Given the description of an element on the screen output the (x, y) to click on. 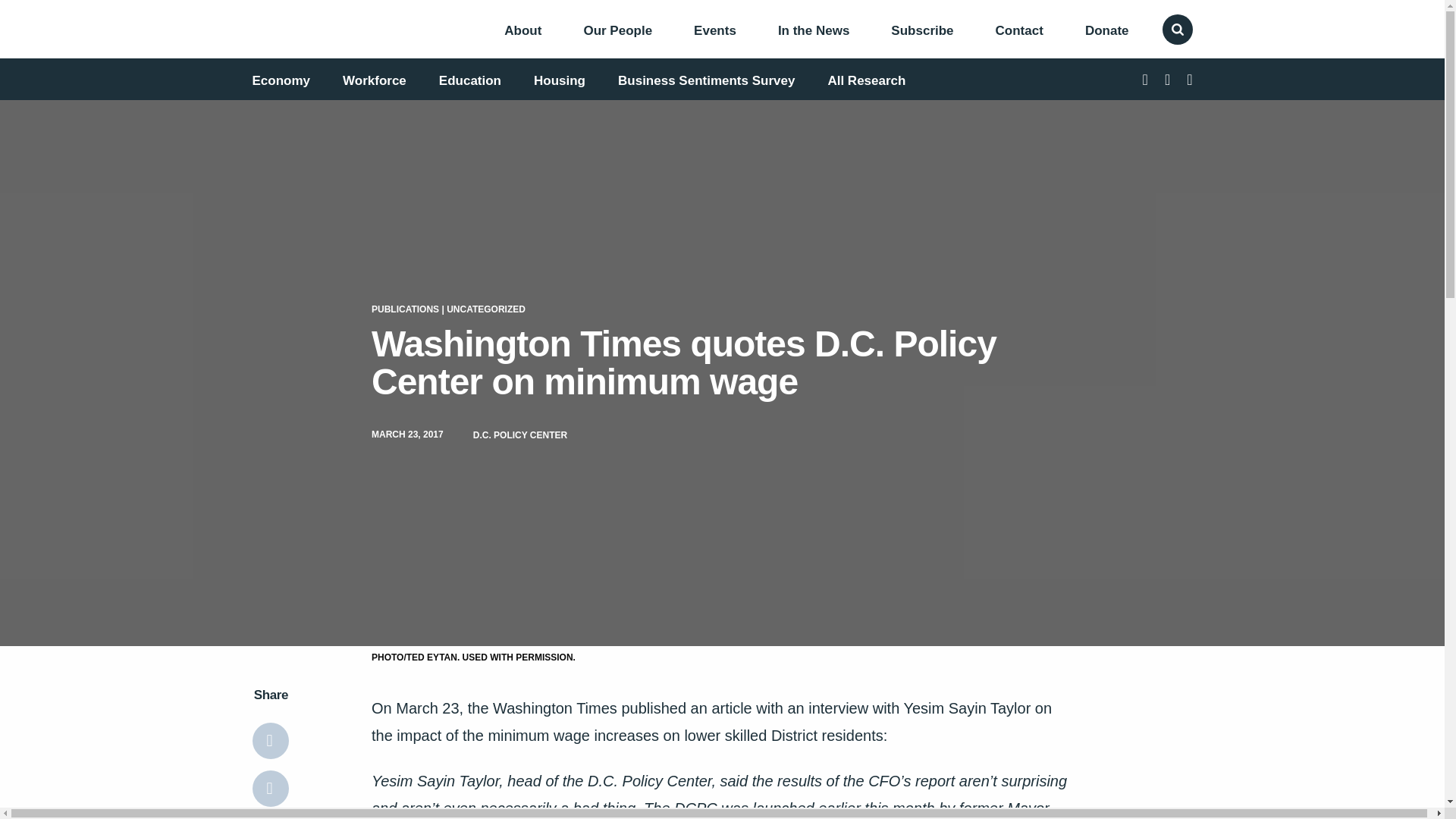
All Research (866, 80)
Our People (617, 30)
Subscribe (922, 30)
About (522, 30)
Education (469, 80)
Economy (280, 80)
Donate (1106, 30)
Housing (559, 80)
In the News (812, 30)
Events (715, 30)
Workforce (374, 80)
Contact (1019, 30)
Business Sentiments Survey (705, 80)
